Given the description of an element on the screen output the (x, y) to click on. 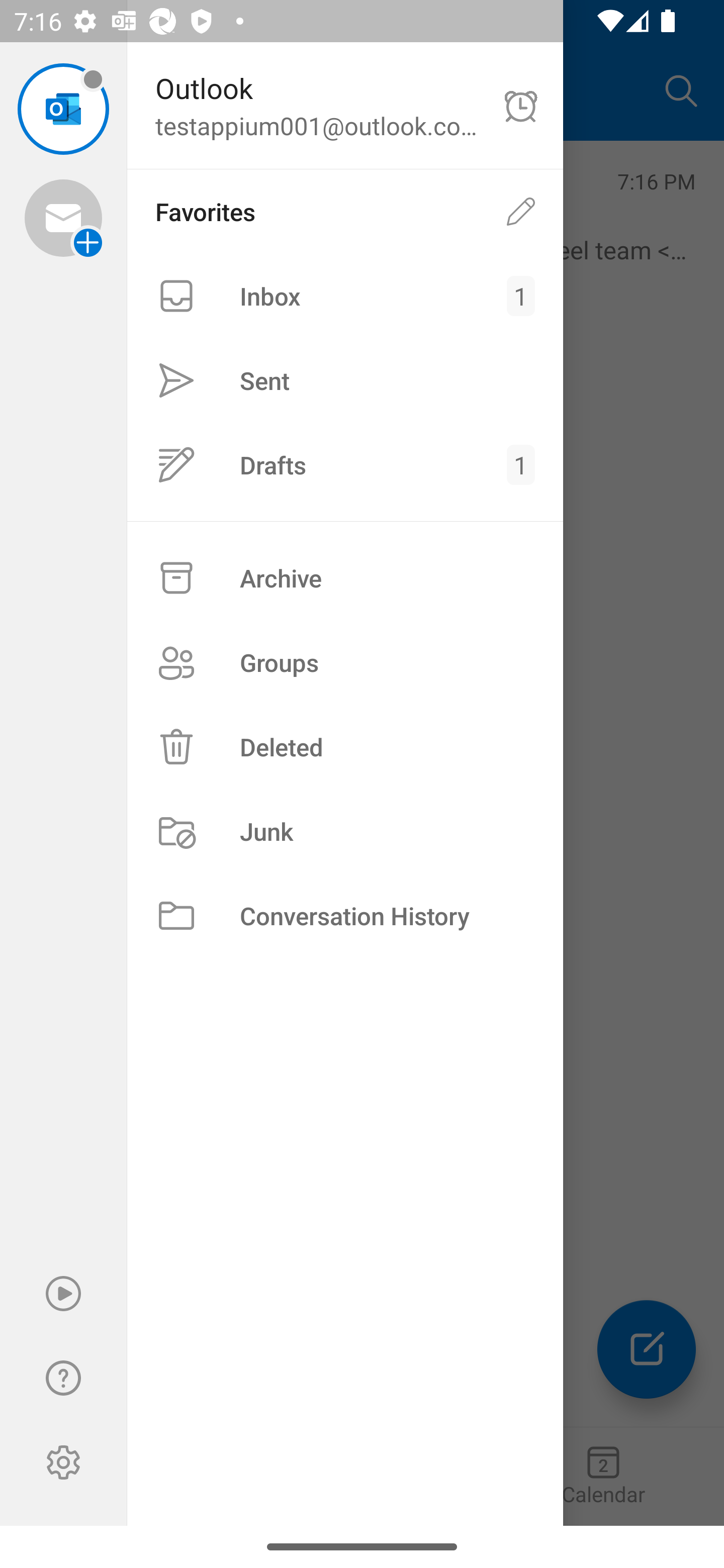
Do not disturb off (520, 105)
testappium001@outlook.com (63, 108)
Edit favorites (520, 211)
Add account (63, 217)
Inbox 1 1 unread email (345, 296)
Sent (345, 380)
Drafts 1 1 unread email (345, 464)
Archive (345, 578)
Groups (345, 662)
Deleted (345, 746)
Junk (345, 830)
Conversation History (345, 915)
Play My Emails (62, 1293)
Help (62, 1377)
Settings (62, 1462)
